Given the description of an element on the screen output the (x, y) to click on. 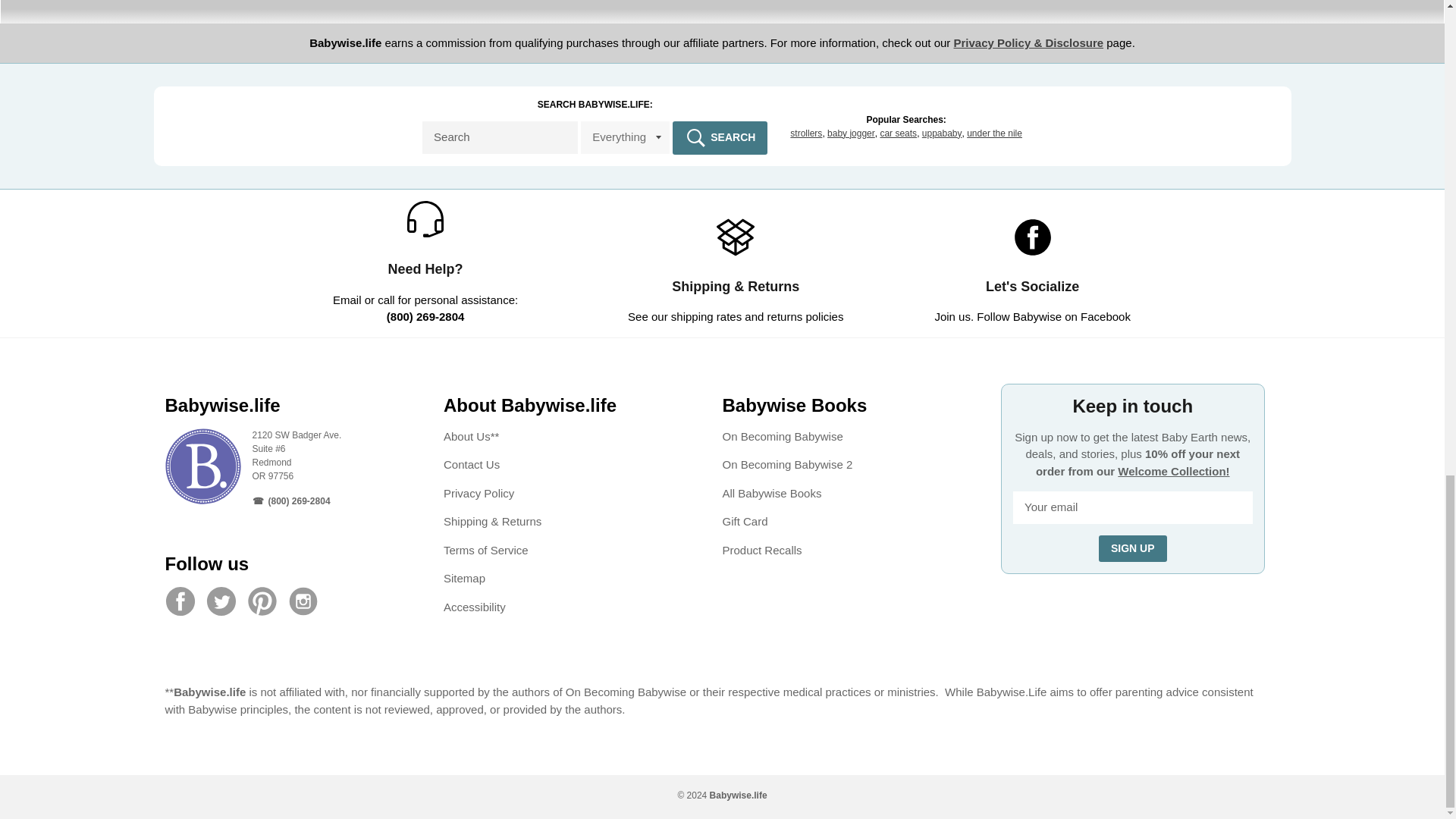
Strollers (806, 132)
Babywise.life on Pinterest (266, 601)
Under the Nile (994, 132)
Babywise.life on Twitter (225, 601)
Babywise.life on Facebook (184, 601)
UPPAbaby (941, 132)
Baby Jogger (851, 132)
Car Seats (898, 132)
Babywise.life on Instagram (307, 601)
